Given the description of an element on the screen output the (x, y) to click on. 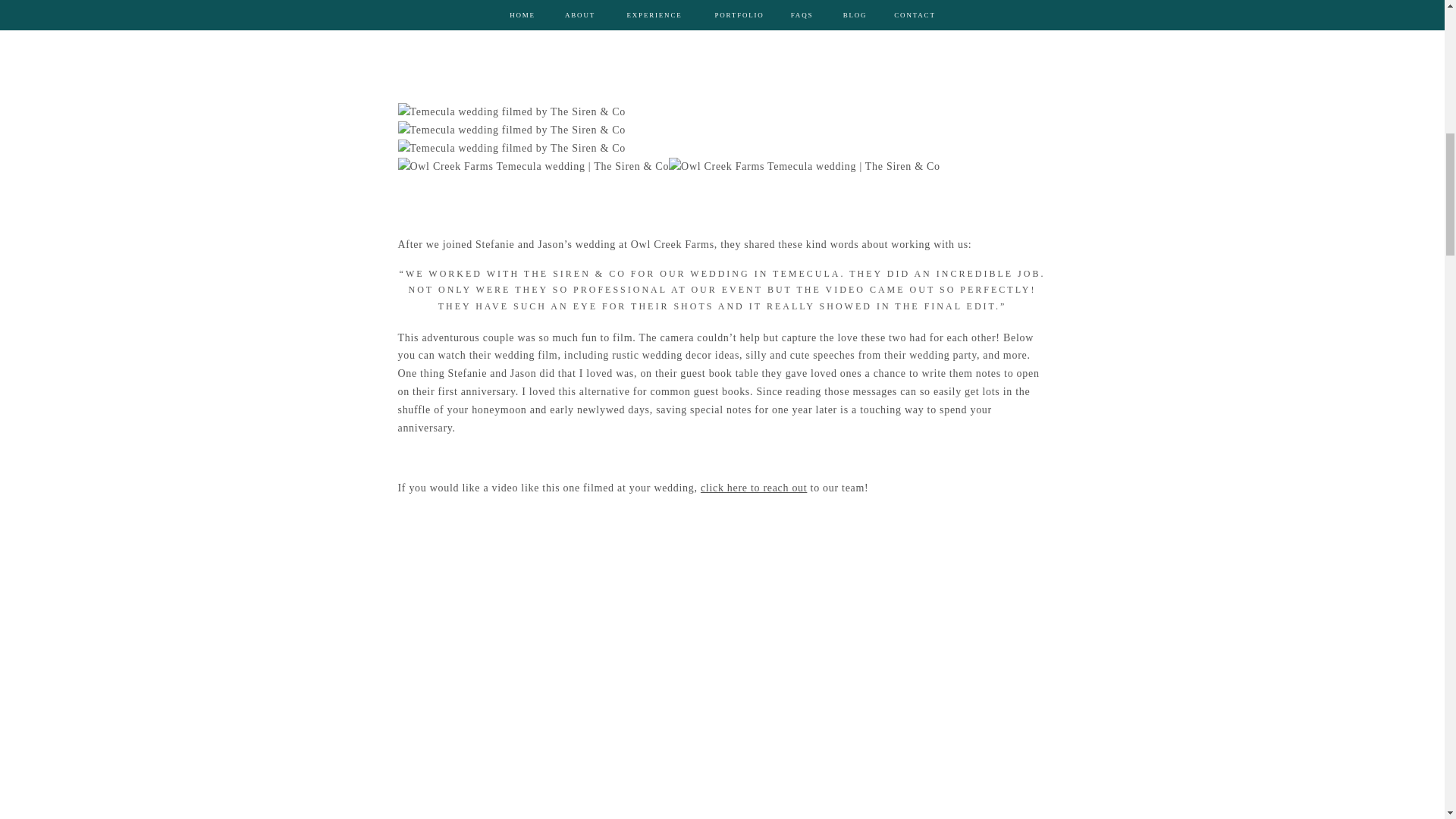
click here to reach out (753, 487)
